Given the description of an element on the screen output the (x, y) to click on. 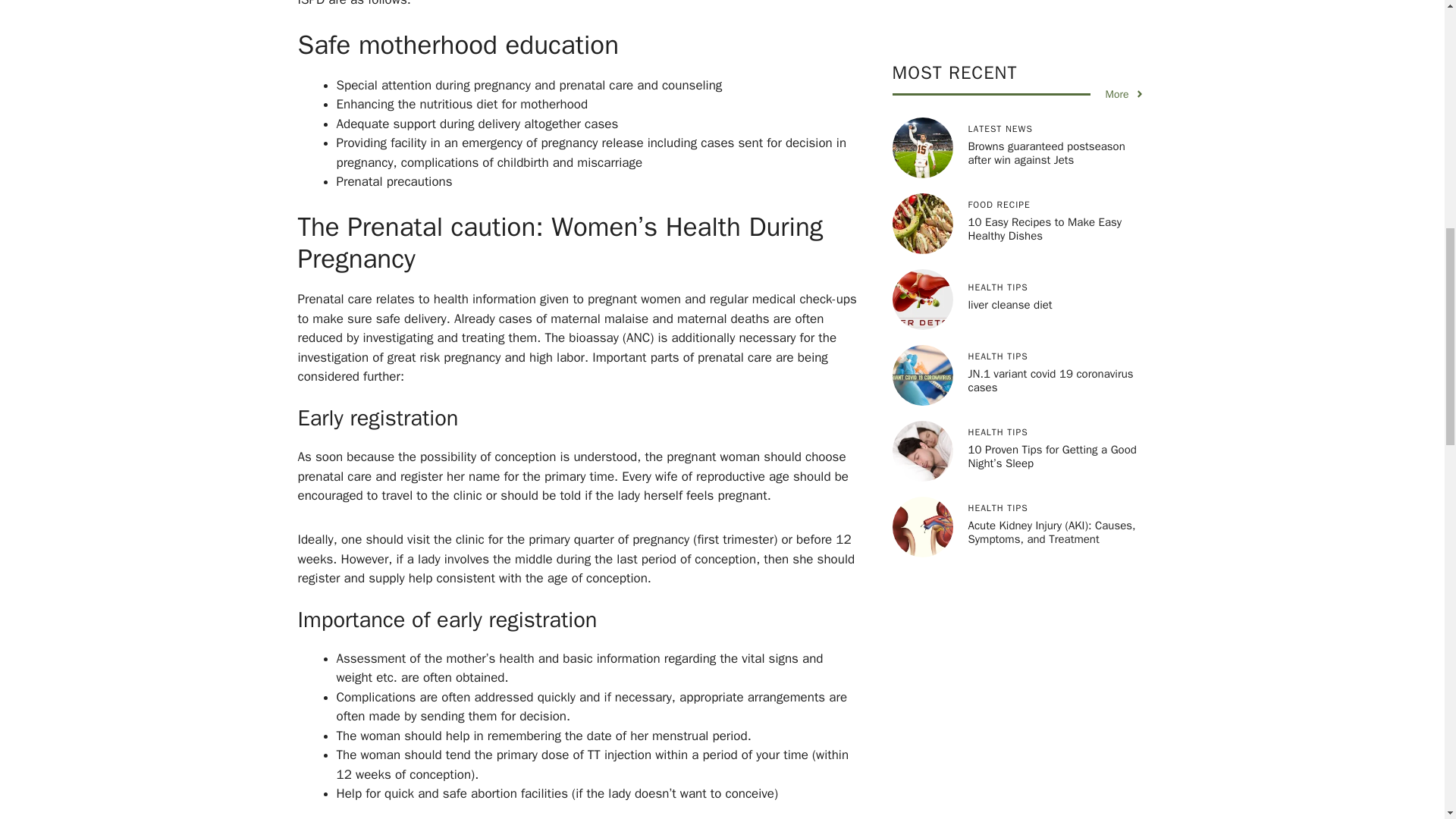
10 Easy Recipes to Make Easy Healthy Dishes (1044, 46)
JN.1 variant covid 19 coronavirus cases (1050, 198)
liver cleanse diet (1009, 122)
